Given the description of an element on the screen output the (x, y) to click on. 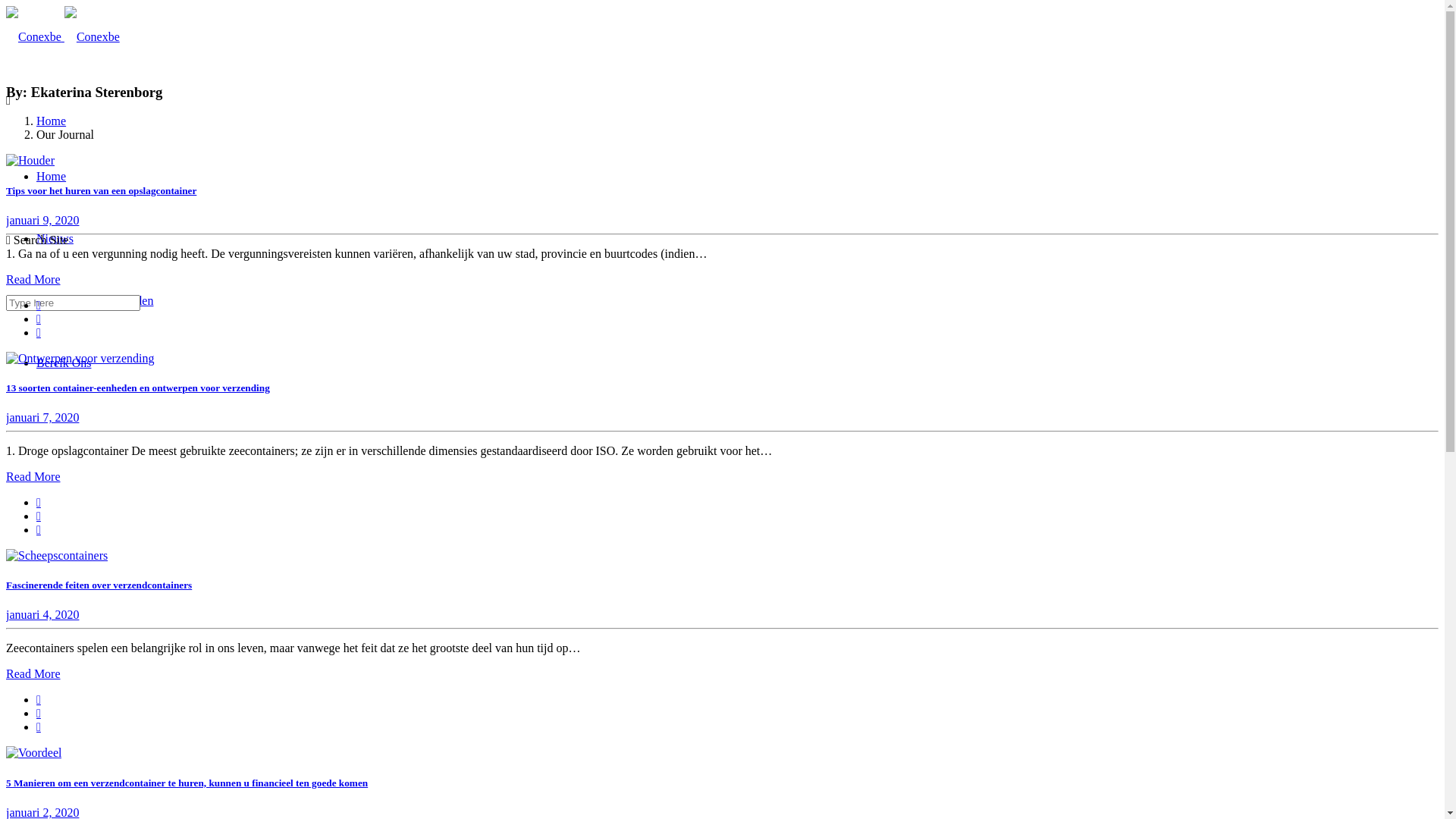
Home Element type: text (50, 120)
Tips voor het huren van een opslagcontainer
januari 9, 2020 Element type: text (722, 205)
Fascinerende feiten over verzendcontainers
januari 4, 2020 Element type: text (722, 600)
Bereik Ons Element type: text (63, 362)
Read More Element type: text (33, 673)
Algemene Voorwaarden Element type: text (94, 300)
Home Element type: text (50, 175)
Read More Element type: text (33, 279)
Nieuws Element type: text (54, 238)
Read More Element type: text (33, 476)
